Given the description of an element on the screen output the (x, y) to click on. 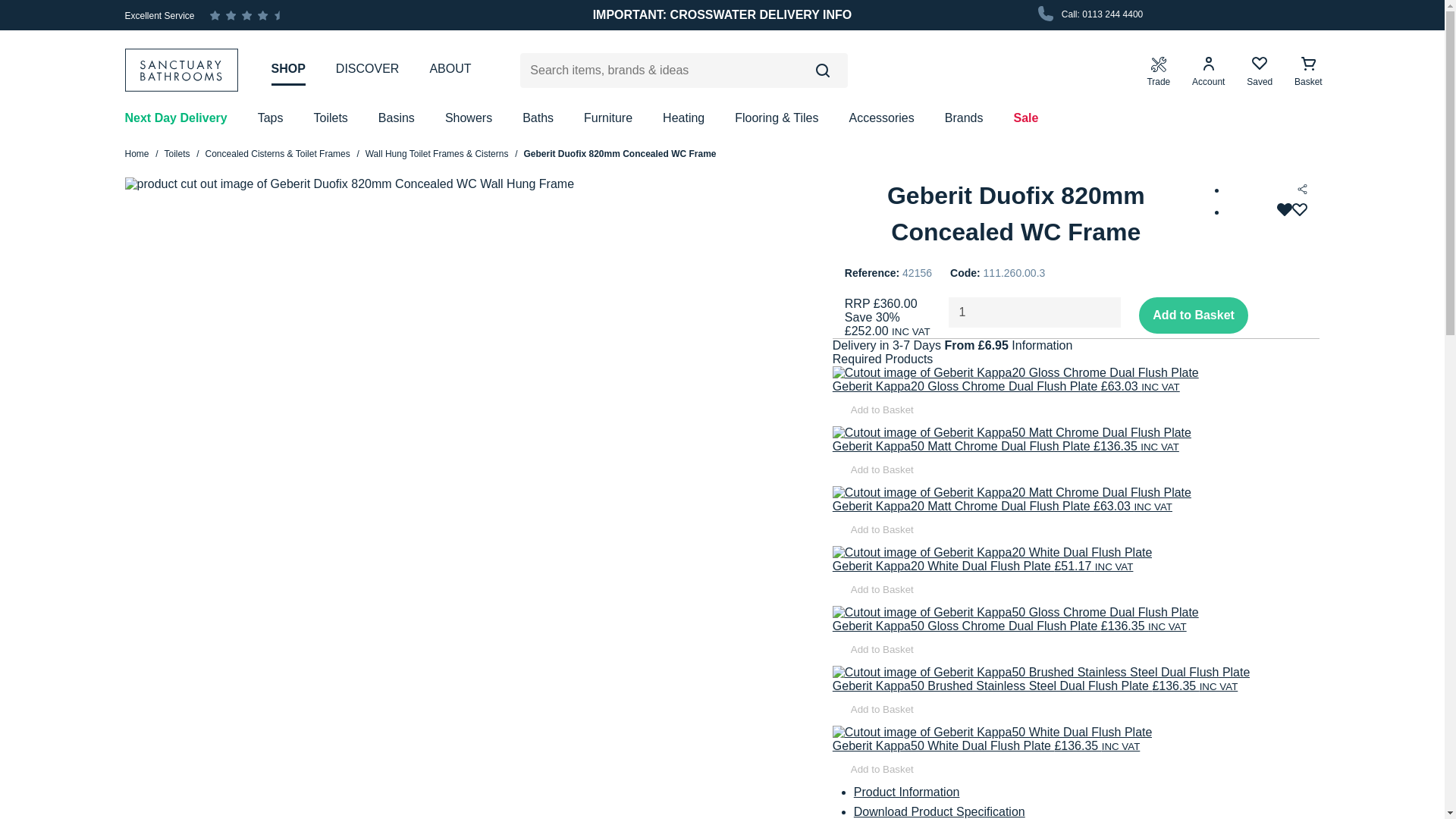
IMPORTANT: CROSSWATER DELIVERY INFO (721, 14)
ABOUT (449, 68)
Account (1208, 71)
Call: 0113 244 4400 (1087, 14)
Saved (1259, 71)
Trade (1158, 71)
Sanctuary Bathrooms (187, 69)
Next Day Delivery (175, 118)
Account (1208, 71)
Basket (1307, 71)
Taps (270, 118)
Saved Items (1259, 71)
Trade (1158, 71)
DISCOVER (367, 68)
Remove from wishlist (1291, 211)
